Given the description of an element on the screen output the (x, y) to click on. 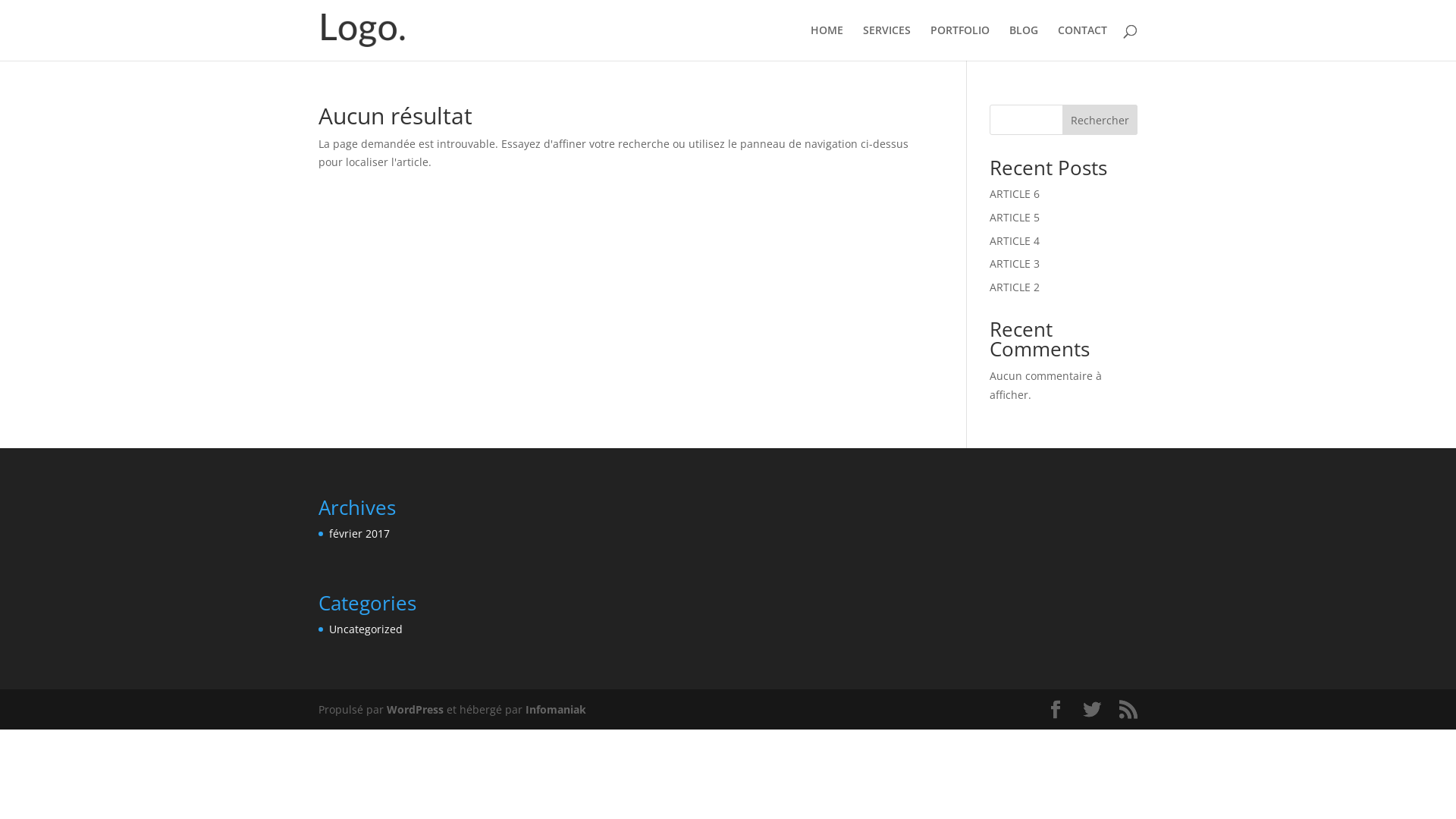
WordPress Element type: text (414, 709)
PORTFOLIO Element type: text (959, 42)
ARTICLE 2 Element type: text (1014, 286)
ARTICLE 6 Element type: text (1014, 193)
Uncategorized Element type: text (365, 628)
BLOG Element type: text (1023, 42)
CONTACT Element type: text (1082, 42)
ARTICLE 4 Element type: text (1014, 240)
ARTICLE 3 Element type: text (1014, 263)
Infomaniak Element type: text (555, 709)
Rechercher Element type: text (1099, 119)
HOME Element type: text (826, 42)
ARTICLE 5 Element type: text (1014, 217)
SERVICES Element type: text (886, 42)
